Given the description of an element on the screen output the (x, y) to click on. 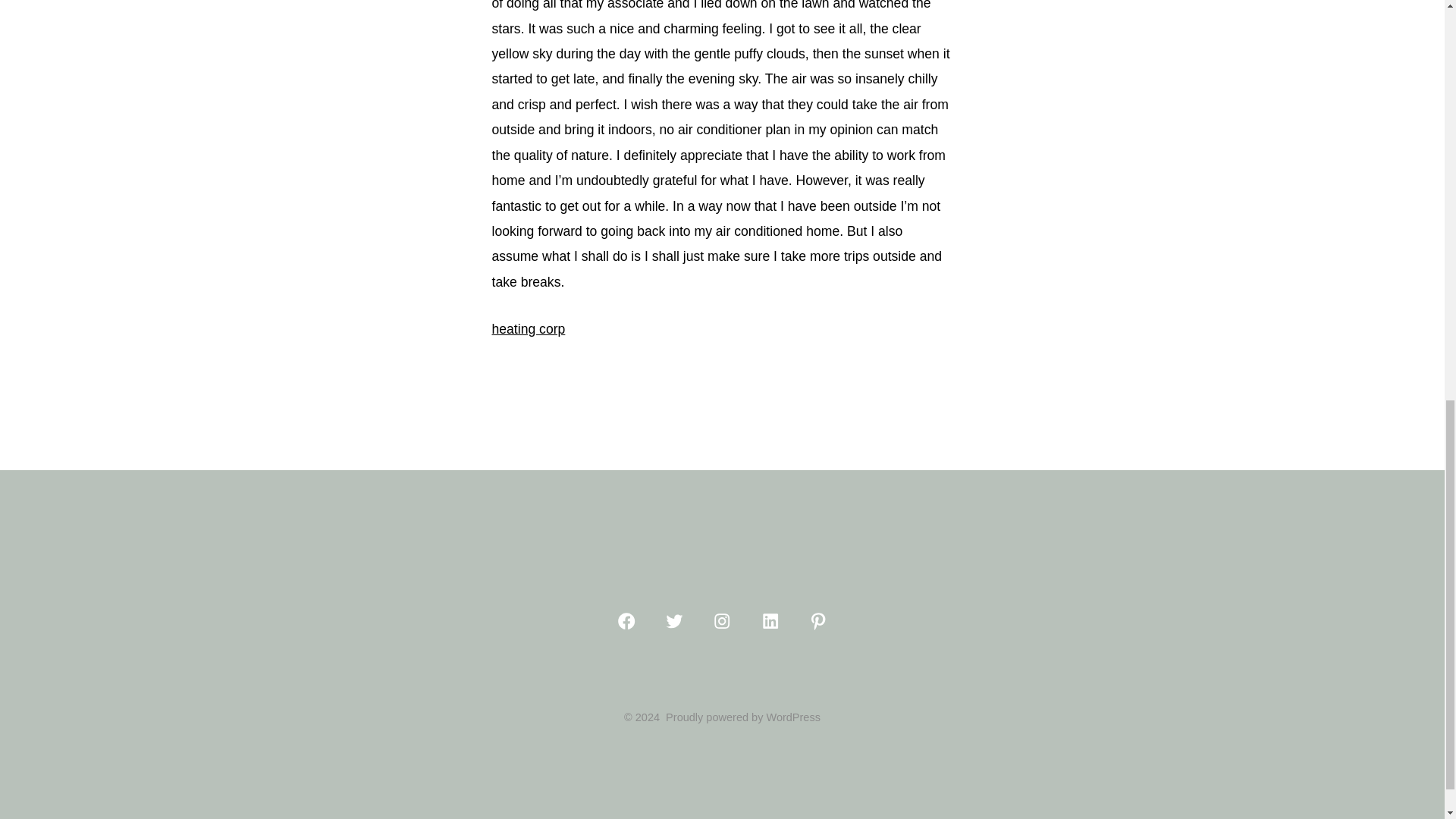
Open Pinterest in a new tab (818, 620)
Open Instagram in a new tab (722, 620)
Open LinkedIn in a new tab (770, 620)
Open Facebook in a new tab (625, 620)
Open Twitter in a new tab (673, 620)
heating corp (528, 328)
